Given the description of an element on the screen output the (x, y) to click on. 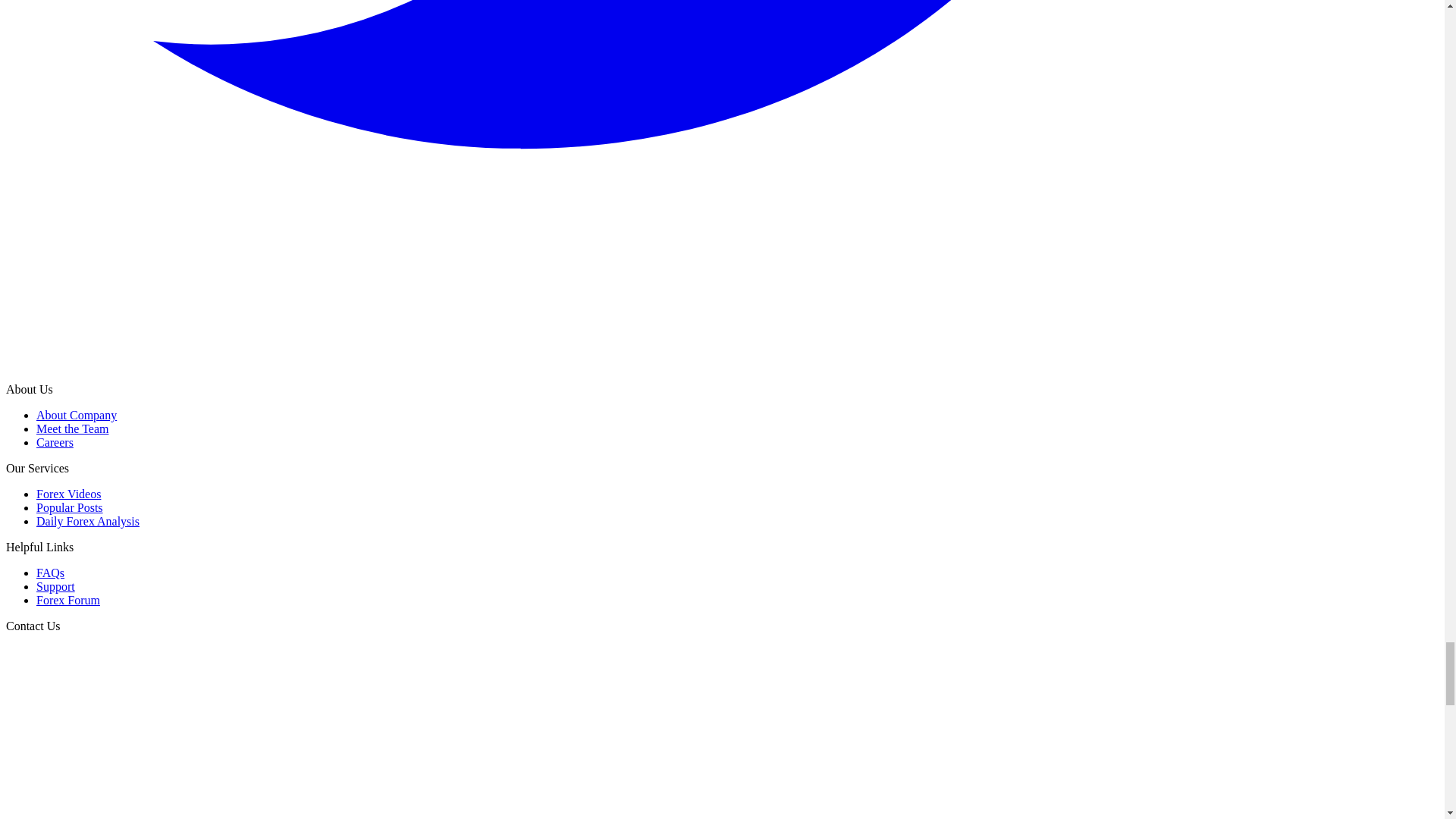
Popular Posts (69, 507)
Meet the Team (71, 428)
FAQs (50, 572)
Support (55, 585)
Daily Forex Analysis (87, 521)
Forex Forum (68, 599)
Forex Videos (68, 493)
About Company (76, 414)
Careers (55, 441)
